Given the description of an element on the screen output the (x, y) to click on. 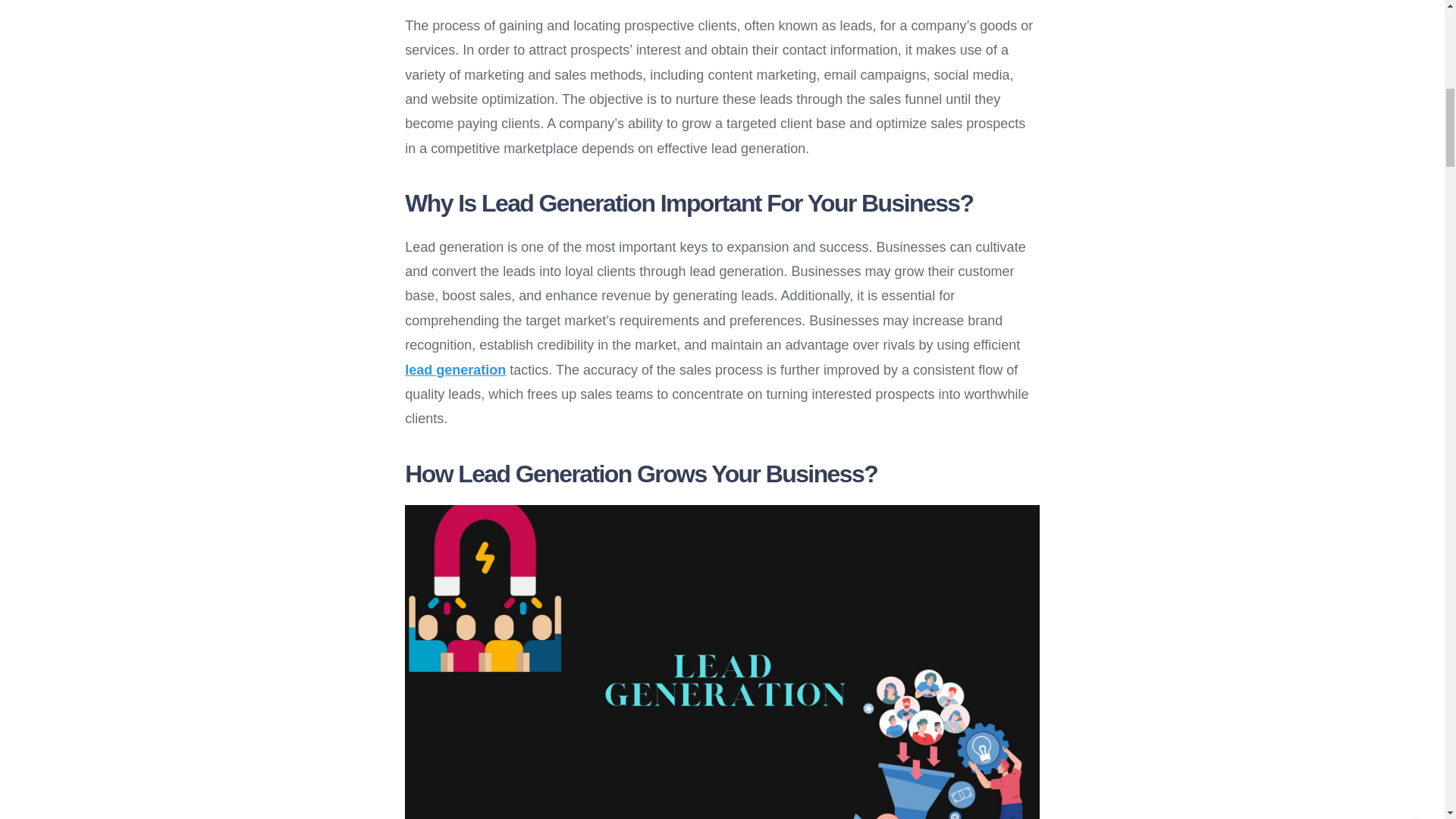
lead generation (454, 369)
